Given the description of an element on the screen output the (x, y) to click on. 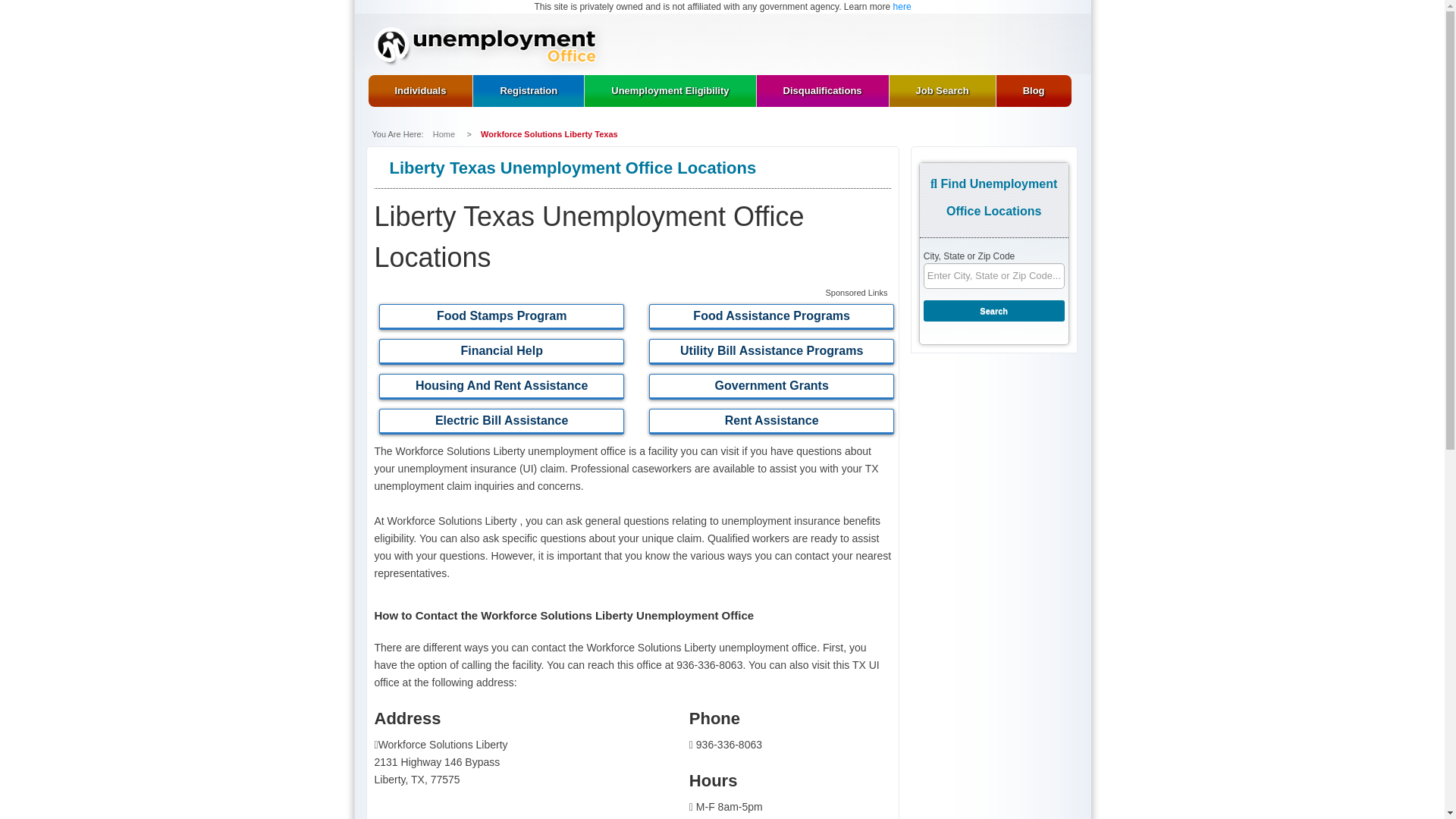
Unemployment Eligibility (670, 91)
Registration (528, 91)
Housing And Rent Assistance (502, 386)
Home (444, 133)
Food Stamps Program (502, 317)
Individuals (420, 91)
Electric Bill Assistance (502, 421)
Search (993, 310)
Financial Help (502, 351)
here (902, 6)
Food Assistance Programs (773, 317)
UnemploymentOffice.org (488, 47)
Utility Bill Assistance Programs (773, 351)
Government Grants (773, 386)
Disqualifications (822, 91)
